Given the description of an element on the screen output the (x, y) to click on. 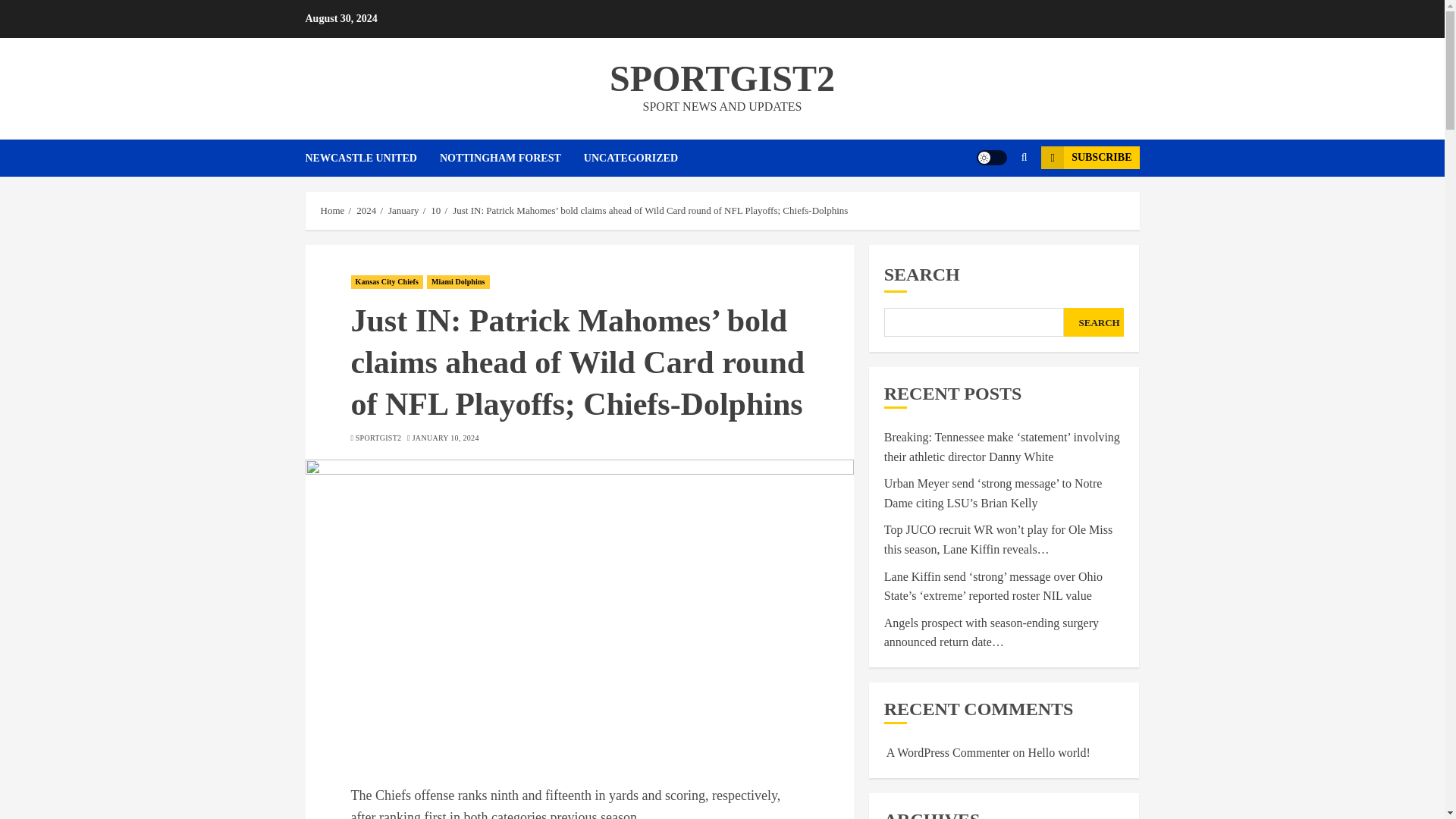
SEARCH (1094, 321)
JANUARY 10, 2024 (445, 438)
2024 (365, 210)
NOTTINGHAM FOREST (511, 157)
Miami Dolphins (457, 282)
Hello world! (1058, 753)
Home (331, 210)
SPORTGIST2 (722, 78)
Search (994, 203)
January (403, 210)
